Given the description of an element on the screen output the (x, y) to click on. 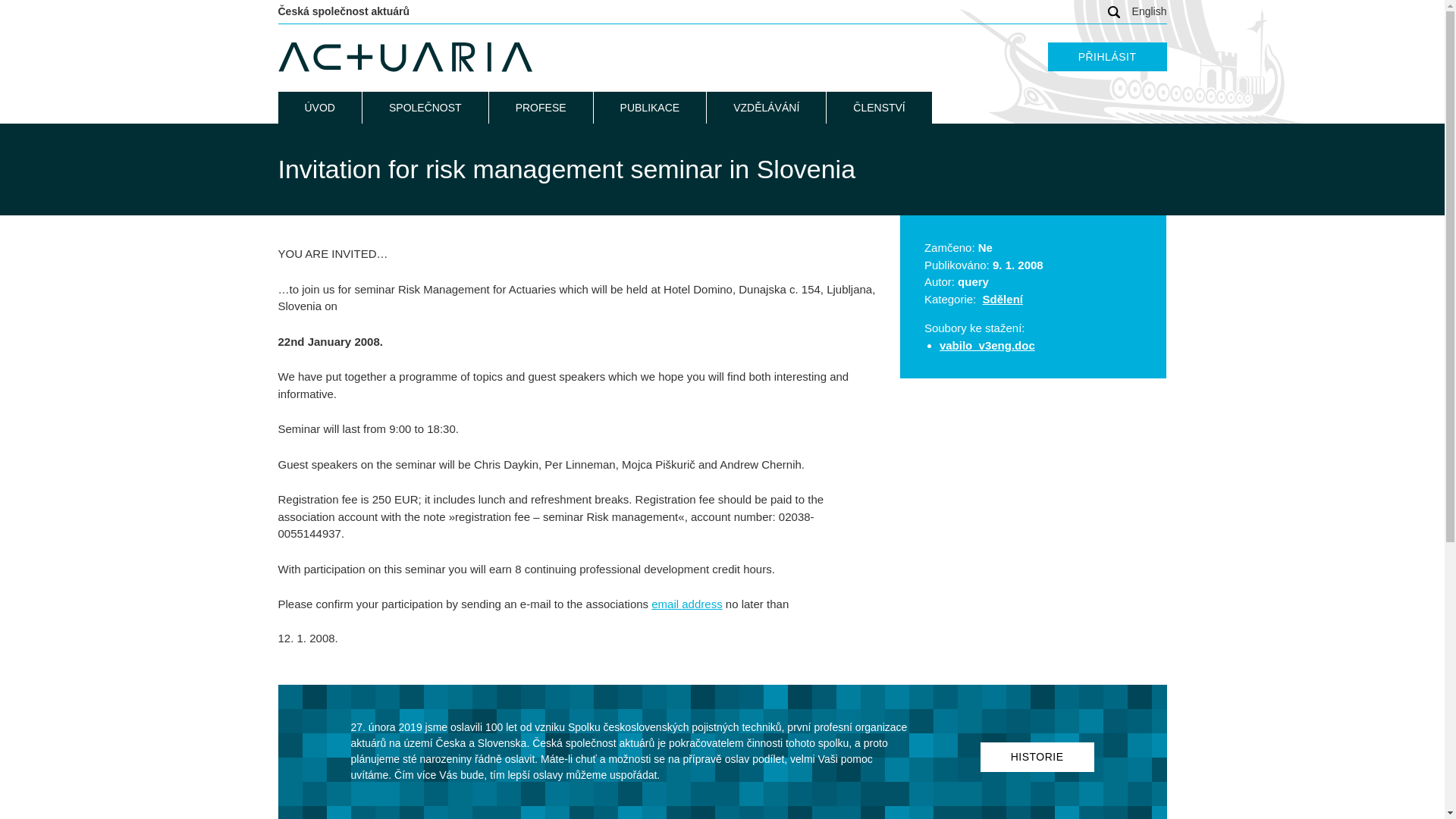
PUBLIKACE (650, 107)
English (1149, 10)
PROFESE (540, 107)
